Given the description of an element on the screen output the (x, y) to click on. 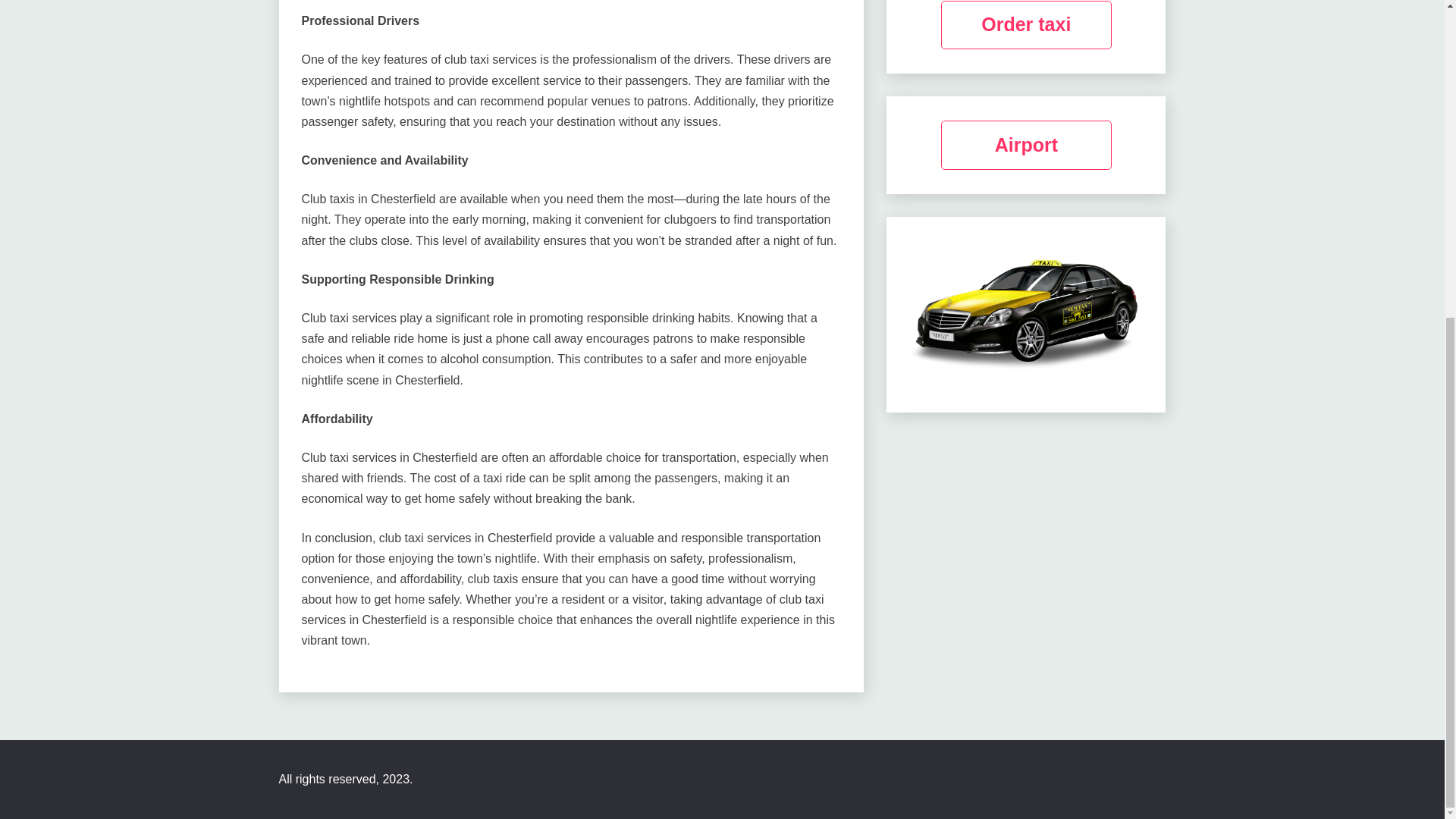
Airport (1026, 144)
Order taxi (1026, 24)
